Given the description of an element on the screen output the (x, y) to click on. 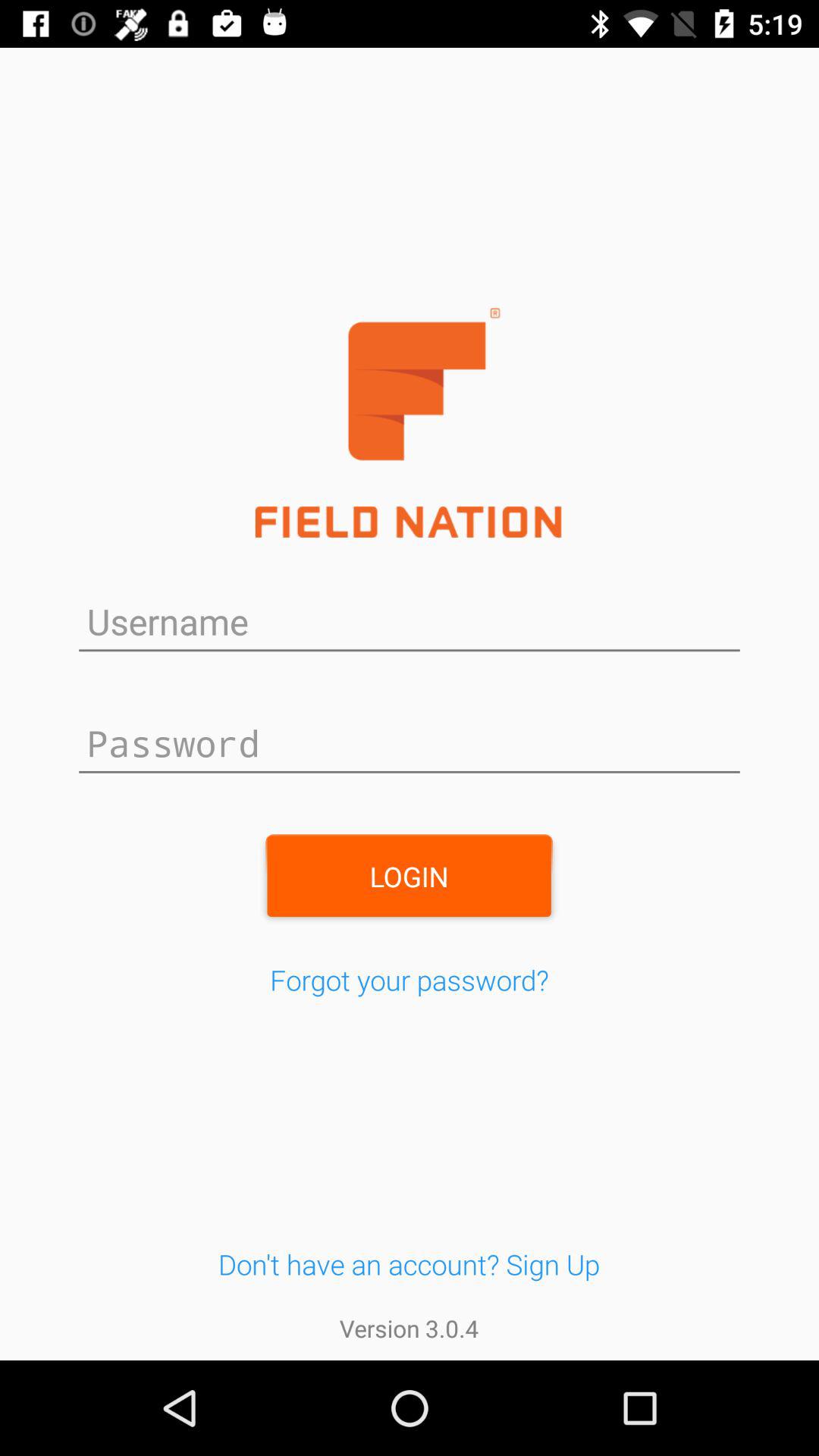
click don t have button (408, 1264)
